Given the description of an element on the screen output the (x, y) to click on. 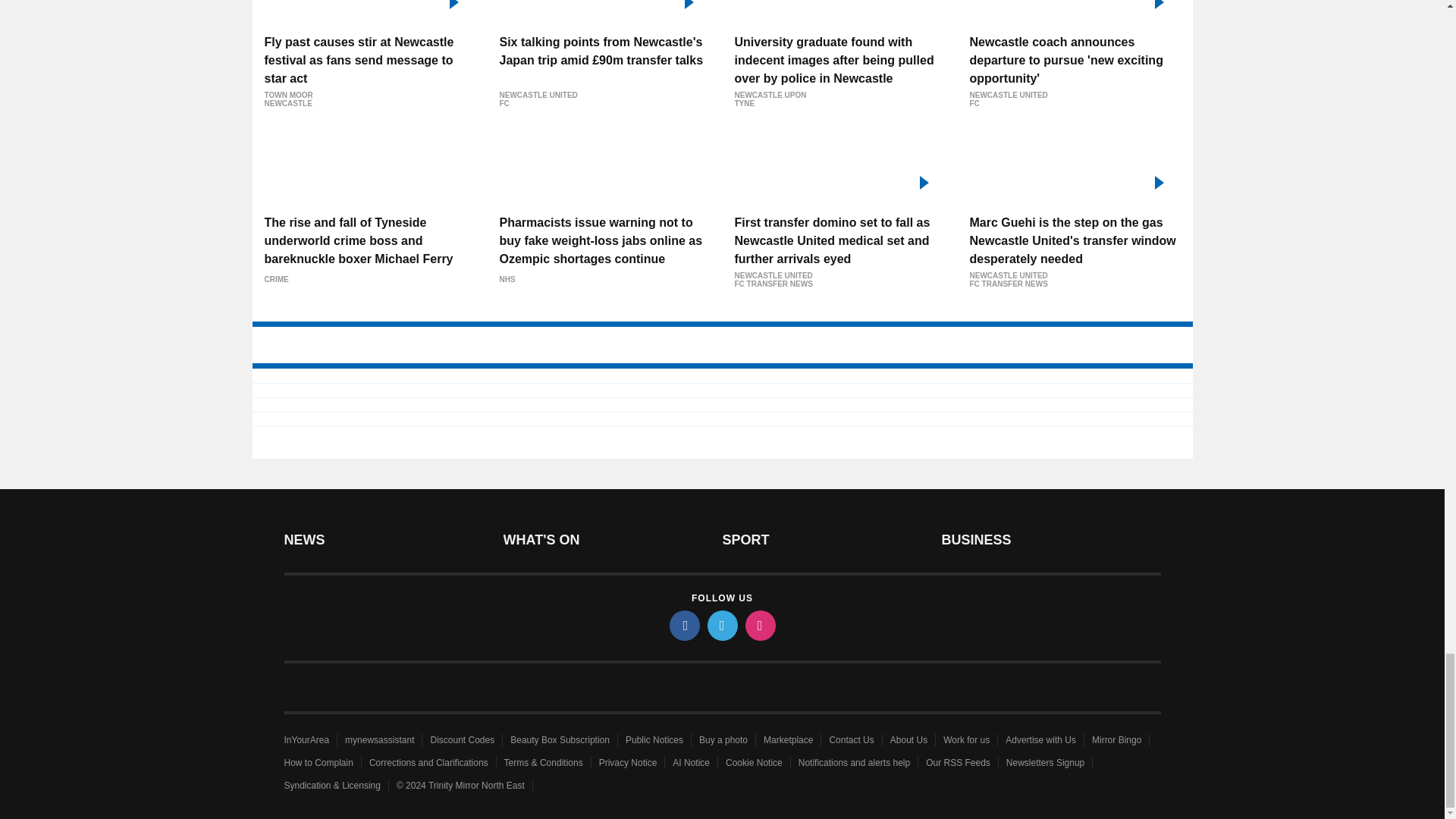
instagram (759, 625)
facebook (683, 625)
twitter (721, 625)
